Given the description of an element on the screen output the (x, y) to click on. 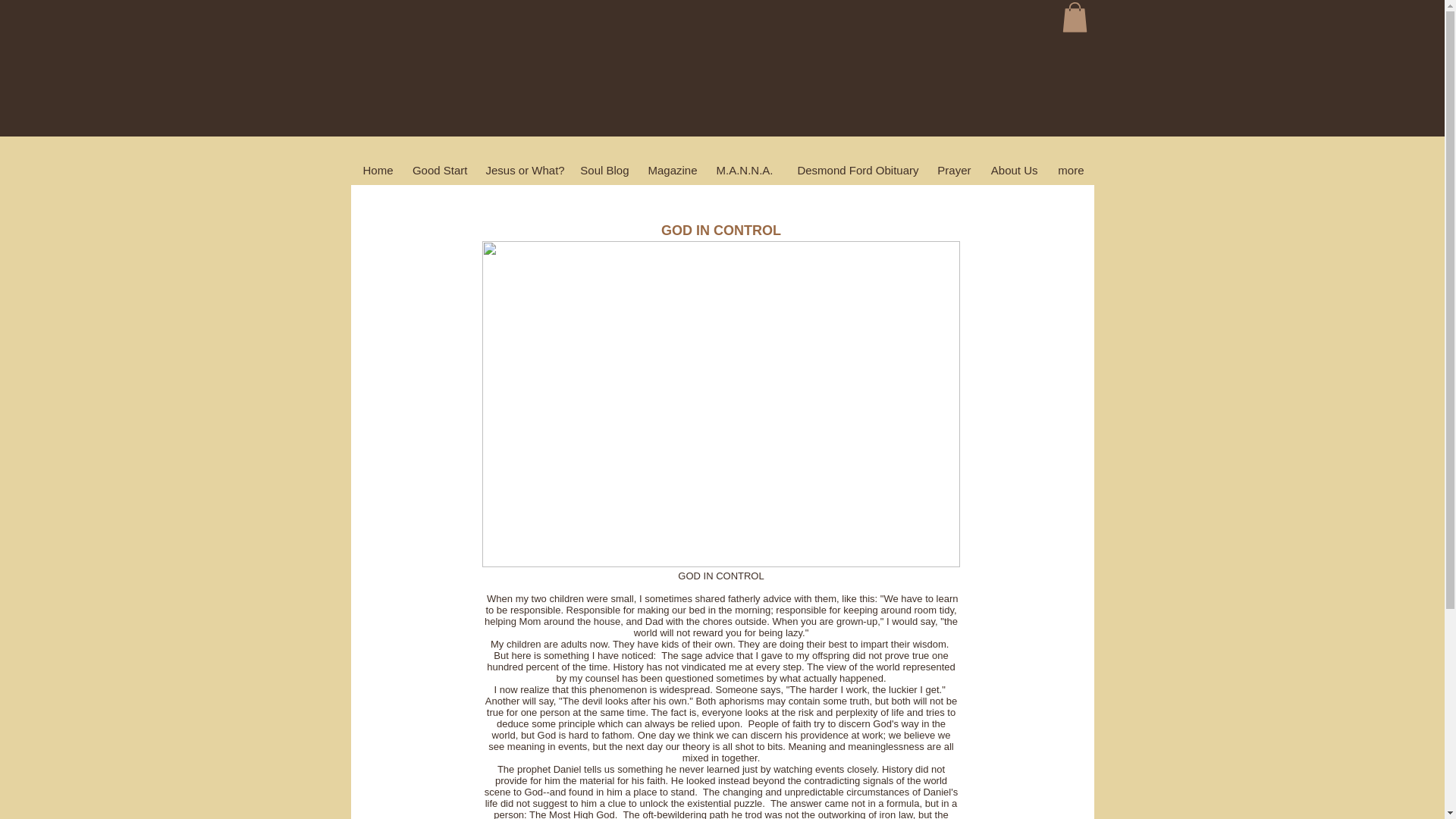
About Us (1012, 169)
Prayer (953, 169)
Desmond Ford Obituary (855, 169)
Soul Blog (603, 169)
Magazine (672, 169)
Good Start (438, 169)
Home (376, 169)
Jesus or What? (523, 169)
M.A.N.N.A. (744, 169)
